Given the description of an element on the screen output the (x, y) to click on. 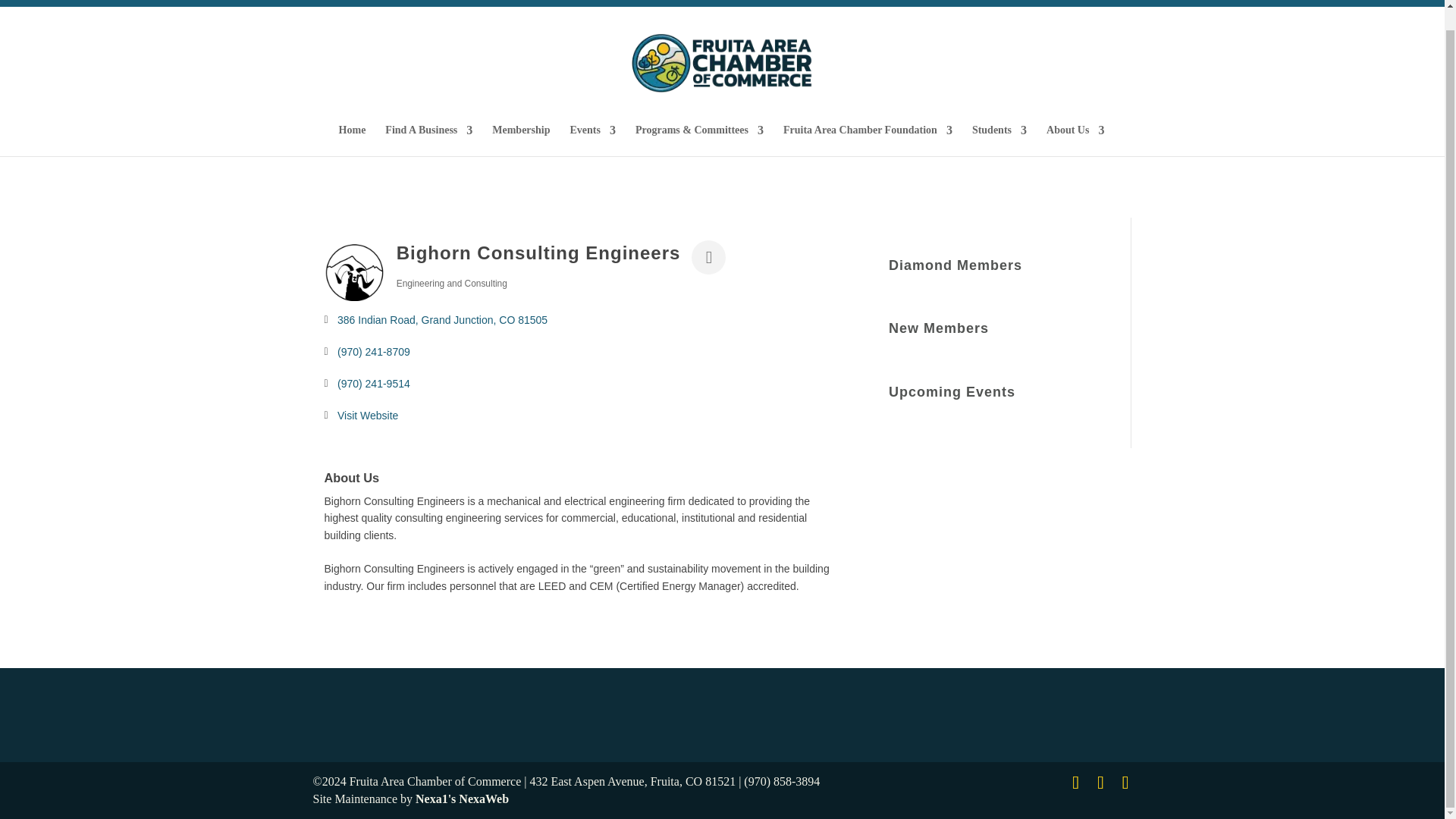
Fruita Area Chamber Foundation (867, 140)
Events (592, 140)
Membership (1038, 3)
Membership (521, 140)
Students (999, 140)
Find A Business (428, 140)
Bighorn Consulting Engineers (354, 272)
Member Login (961, 3)
About Us (1074, 140)
Contact Us (1106, 3)
